Given the description of an element on the screen output the (x, y) to click on. 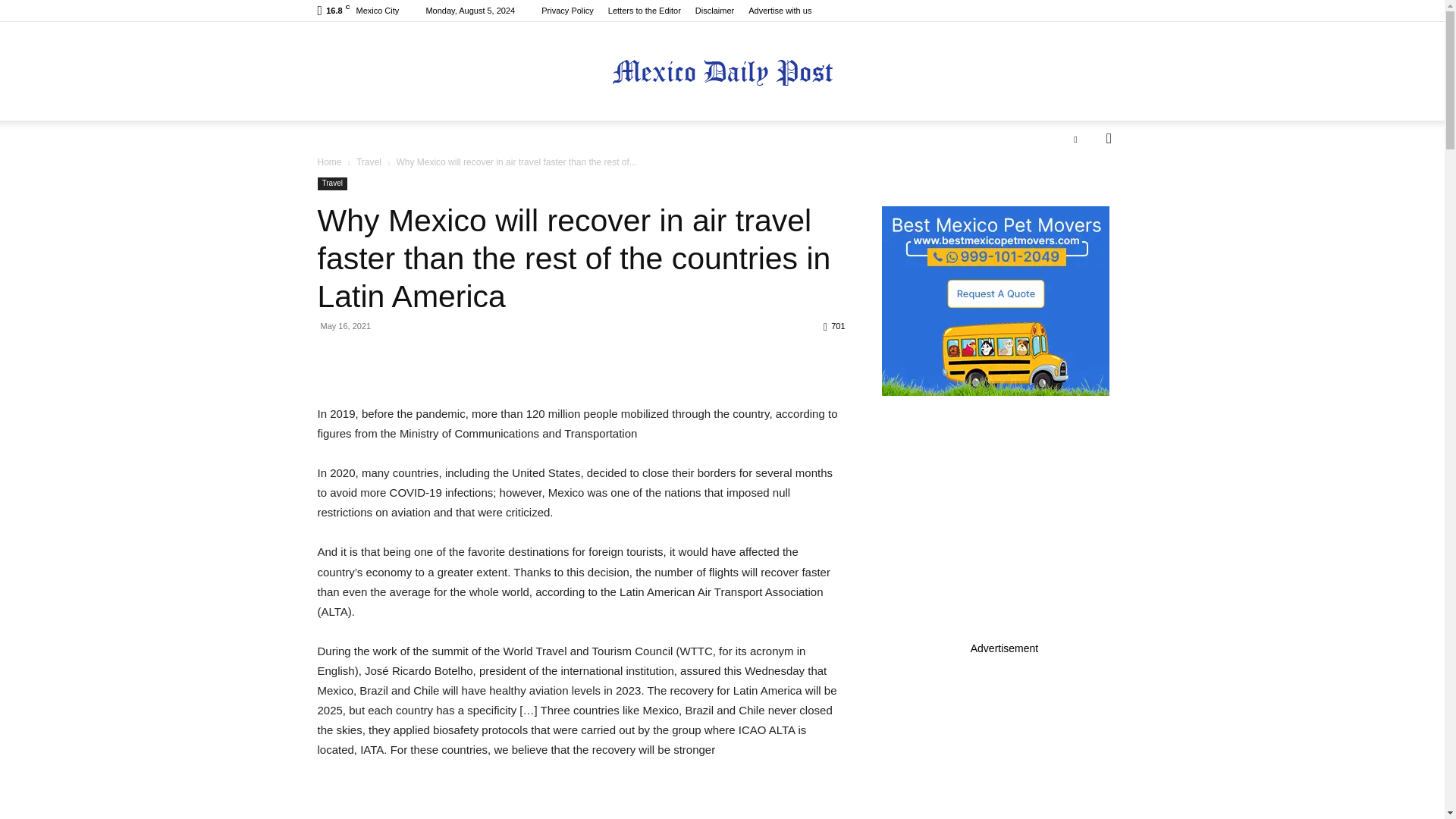
Disclaimer (714, 10)
Search (1085, 199)
Home (328, 162)
Letters to the Editor (644, 10)
Privacy Policy (566, 10)
Mexico Daily Post (721, 72)
Advertise with us (779, 10)
Travel (368, 162)
View all posts in Travel (368, 162)
Travel (331, 183)
